Given the description of an element on the screen output the (x, y) to click on. 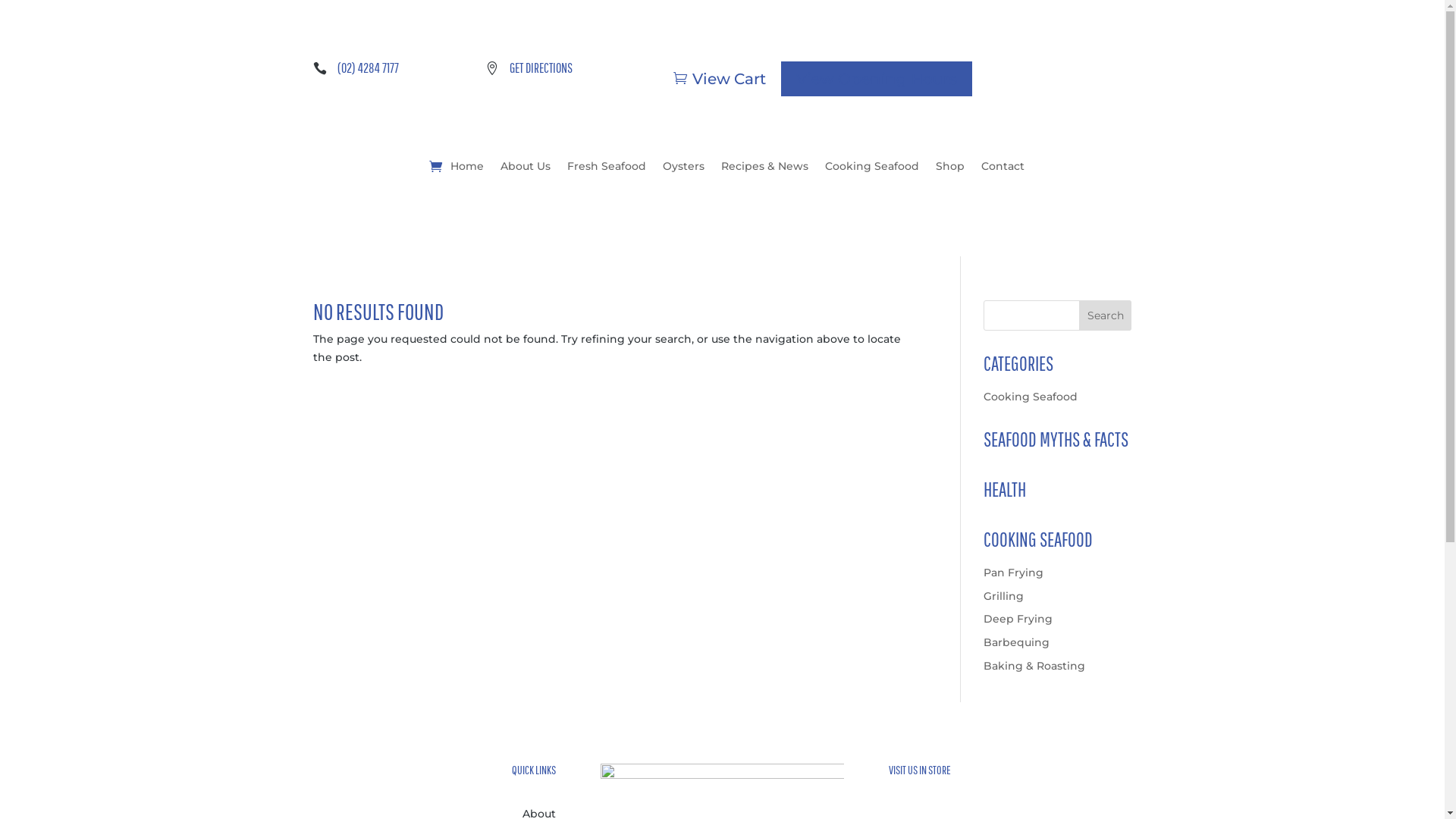
Barbequing Element type: text (1016, 642)
Oysters Element type: text (683, 165)
Baking & Roasting Element type: text (1034, 665)
Grilling Element type: text (1003, 595)
Fresh Seafood Element type: text (606, 165)
Pan Frying Element type: text (1013, 572)
About Us Element type: text (525, 165)
Search Element type: text (1105, 315)
Recipes & News Element type: text (763, 165)
Deep Frying Element type: text (1017, 618)
Contact Element type: text (1002, 165)
Home Element type: text (466, 165)
Cooking Seafood Element type: text (1030, 396)
Cooking Seafood Element type: text (872, 165)
View Opening Hours Element type: text (876, 78)
Shop Element type: text (949, 165)
